Given the description of an element on the screen output the (x, y) to click on. 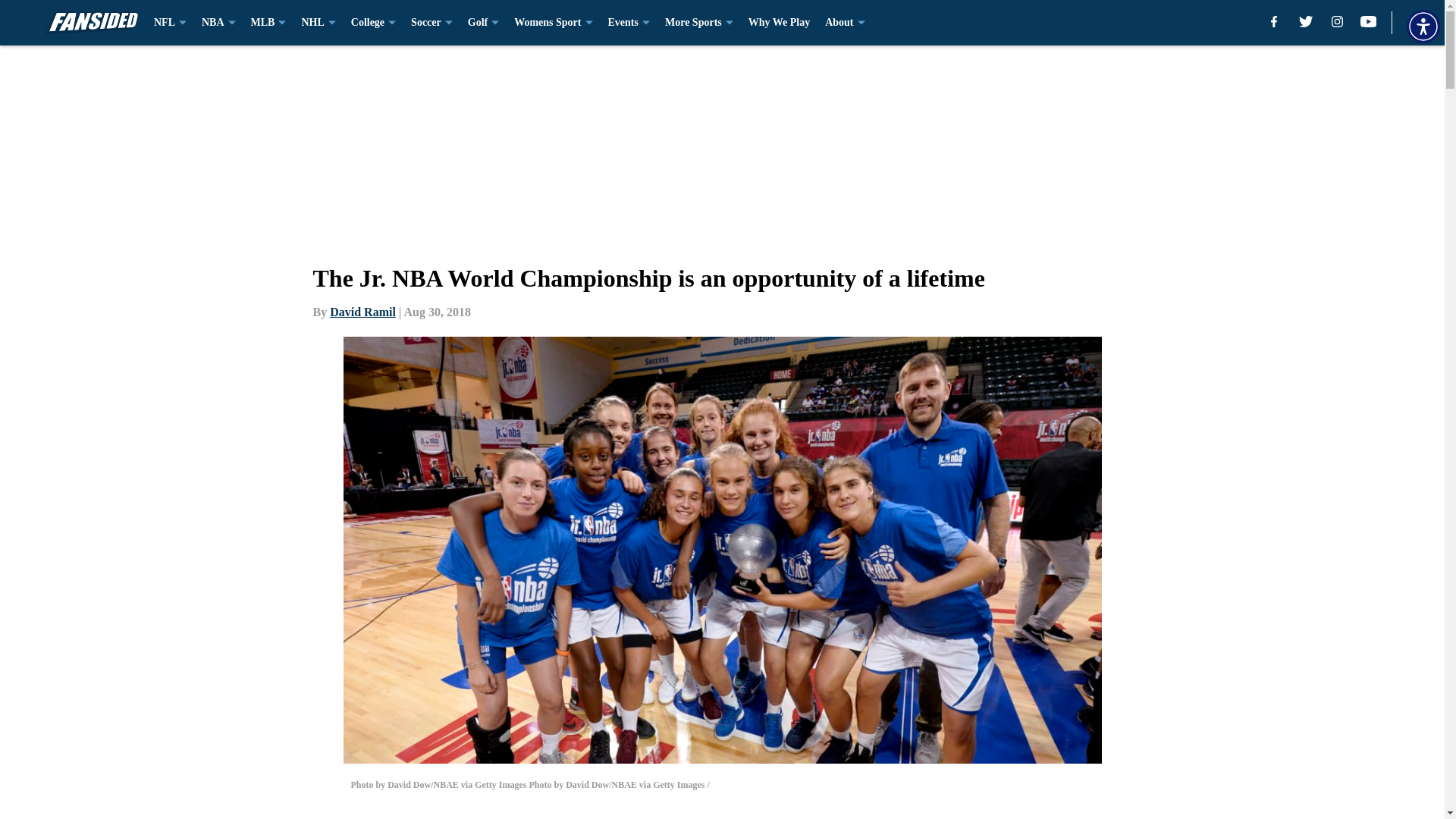
Accessibility Menu (1422, 26)
